Given the description of an element on the screen output the (x, y) to click on. 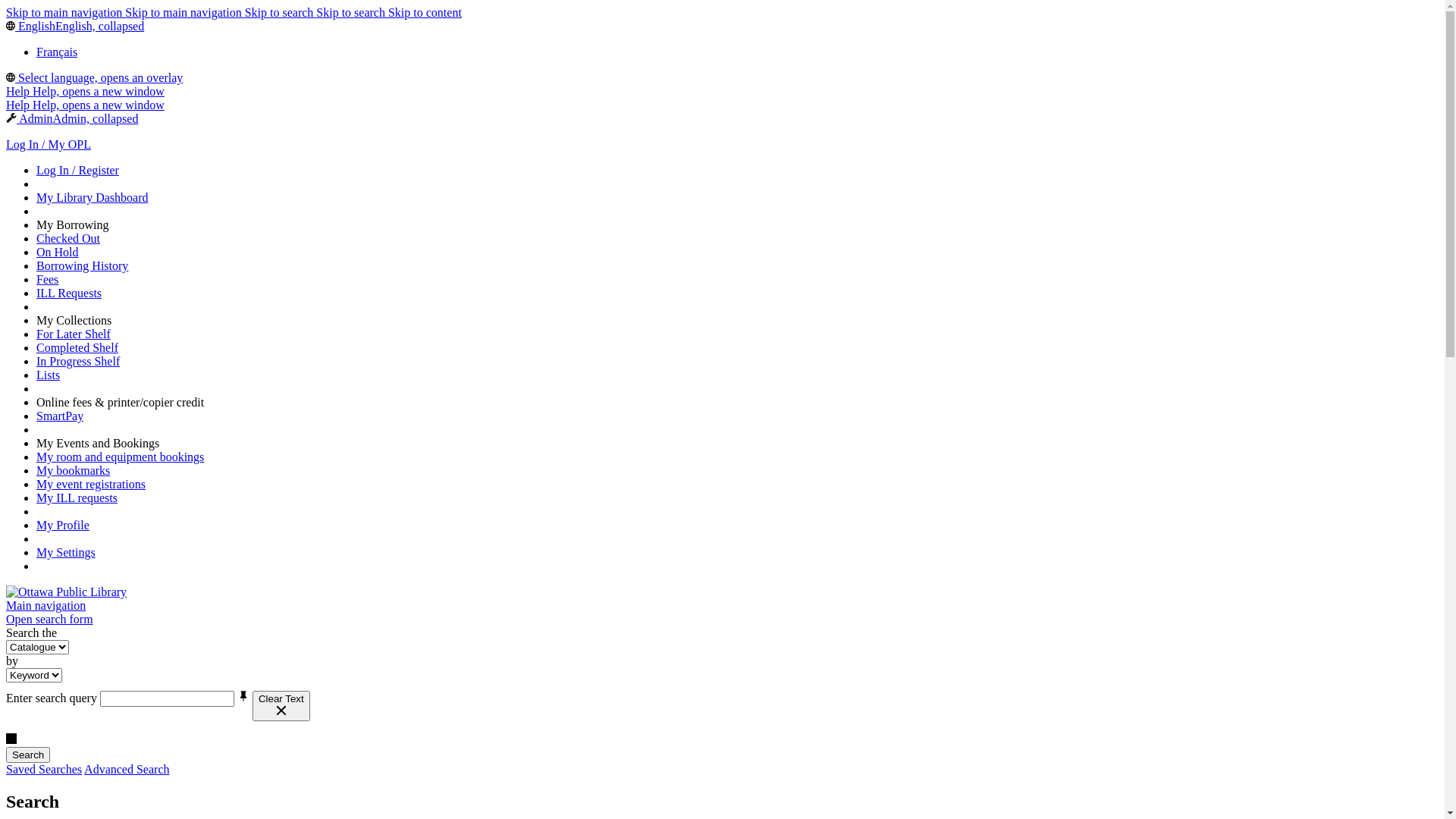
My Settings Element type: text (65, 552)
Help Help, opens a new window Element type: text (85, 90)
Checked Out Element type: text (68, 238)
Log In / Register Element type: text (77, 169)
Lists Element type: text (47, 374)
ILL Requests Element type: text (68, 292)
In Progress Shelf Element type: text (77, 360)
On Hold Element type: text (57, 251)
Help Help, opens a new window Element type: text (85, 104)
Skip to main navigation Element type: text (184, 12)
Saved Searches Element type: text (43, 768)
Fees Element type: text (47, 279)
Main navigation Element type: text (45, 605)
Search Element type: text (28, 754)
Completed Shelf Element type: text (77, 347)
My ILL requests Element type: text (76, 497)
EnglishEnglish, collapsed Element type: text (75, 25)
Admin AdminAdmin, collapsed Element type: text (72, 118)
Borrowing History Element type: text (82, 265)
My room and equipment bookings Element type: text (119, 456)
Skip to search Element type: text (352, 12)
Clear Text Element type: text (281, 705)
Select language, opens an overlay Element type: text (94, 77)
My Library Dashboard Element type: text (92, 197)
For Later Shelf Element type: text (73, 333)
My event registrations Element type: text (90, 483)
Log In / My OPL Element type: text (48, 144)
My bookmarks Element type: text (72, 470)
Advanced Search Element type: text (126, 768)
Open search form Element type: text (49, 618)
Skip to main navigation Element type: text (65, 12)
My Profile Element type: text (62, 524)
SmartPay Element type: text (59, 415)
Skip to search Element type: text (280, 12)
Skip to content Element type: text (424, 12)
